Given the description of an element on the screen output the (x, y) to click on. 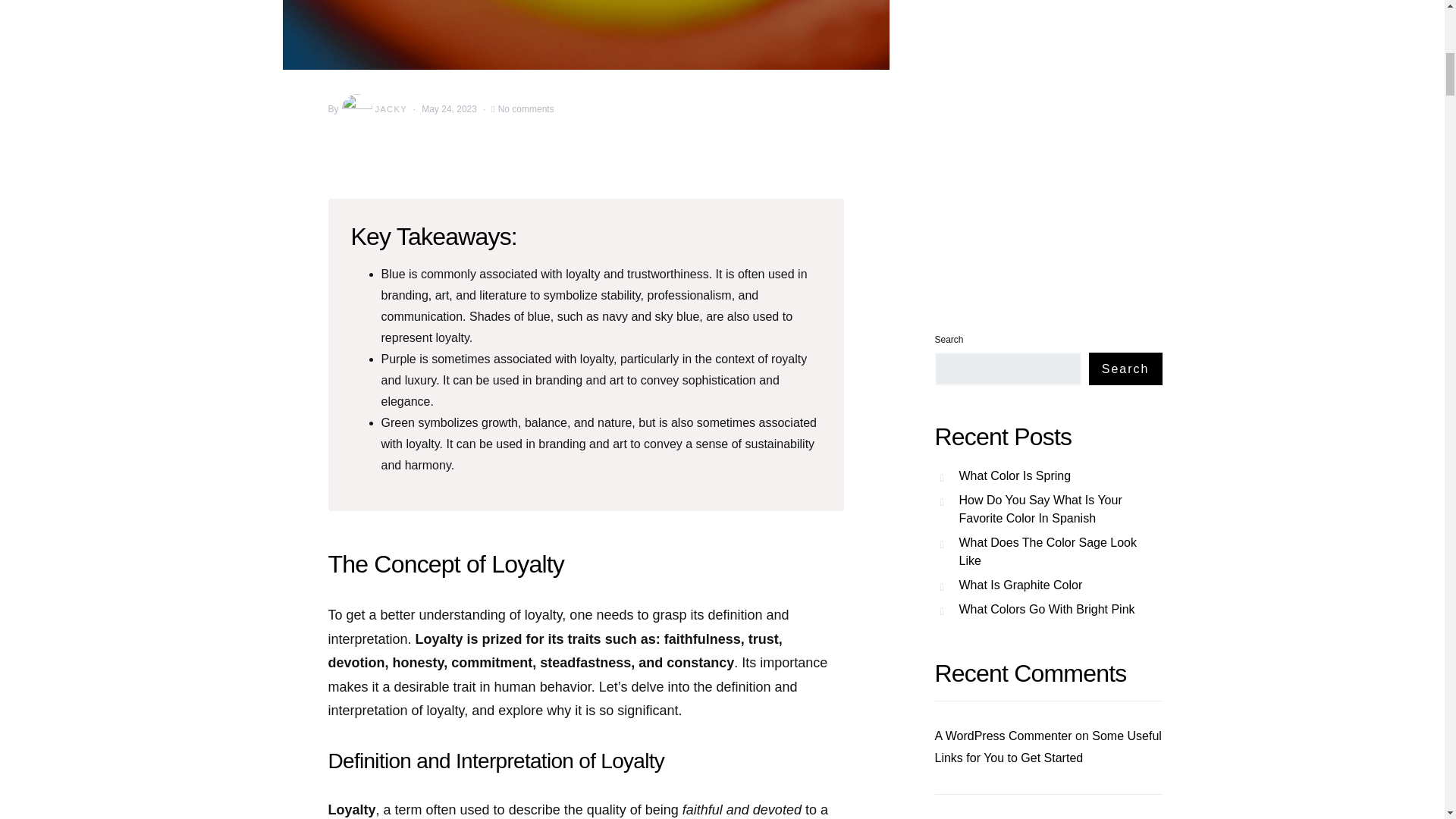
JACKY (373, 109)
View all posts by Jacky (373, 109)
No comments (525, 109)
